Given the description of an element on the screen output the (x, y) to click on. 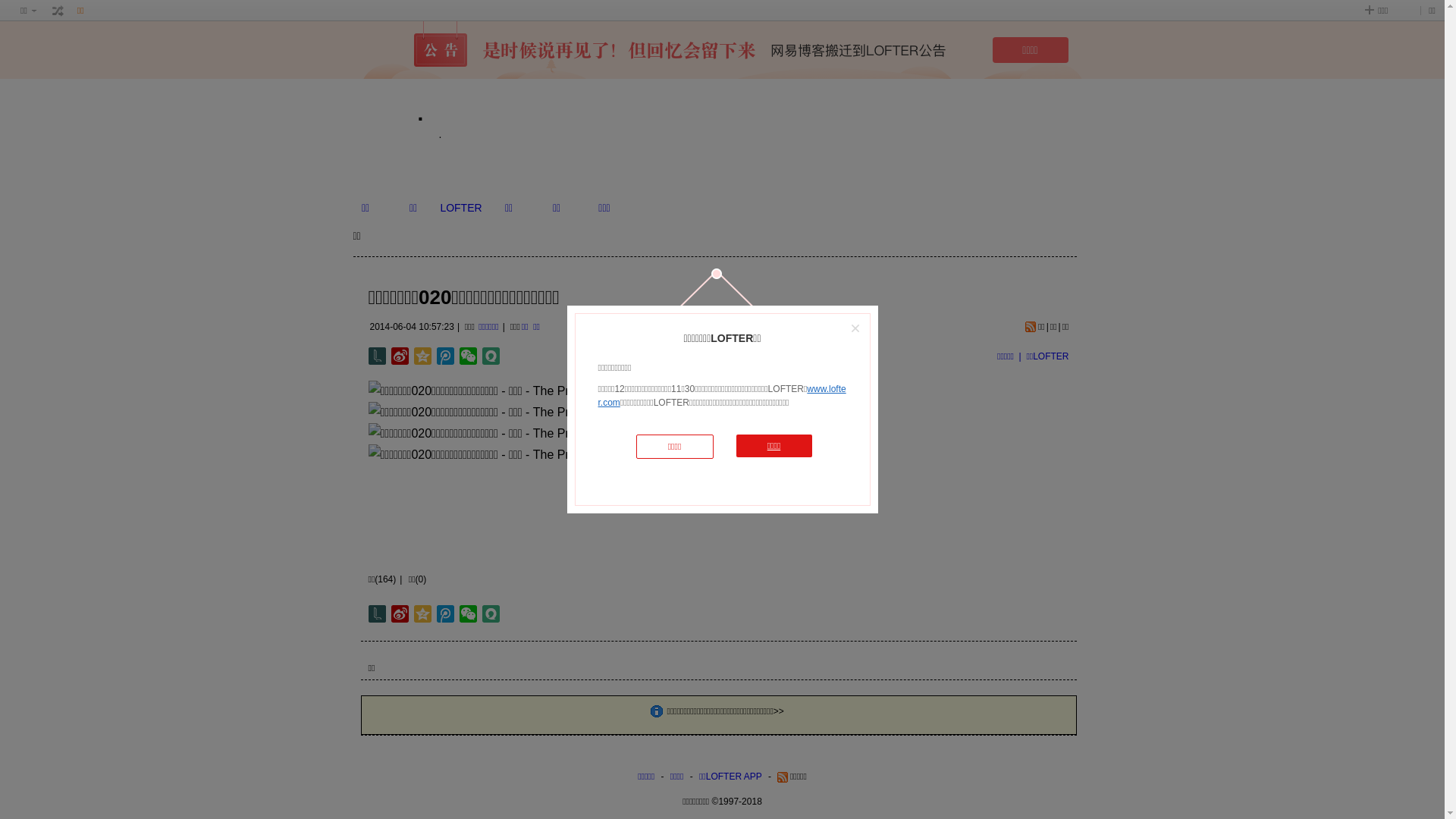
LOFTER Element type: text (460, 207)
www.lofter.com Element type: text (721, 395)
  Element type: text (58, 10)
